Given the description of an element on the screen output the (x, y) to click on. 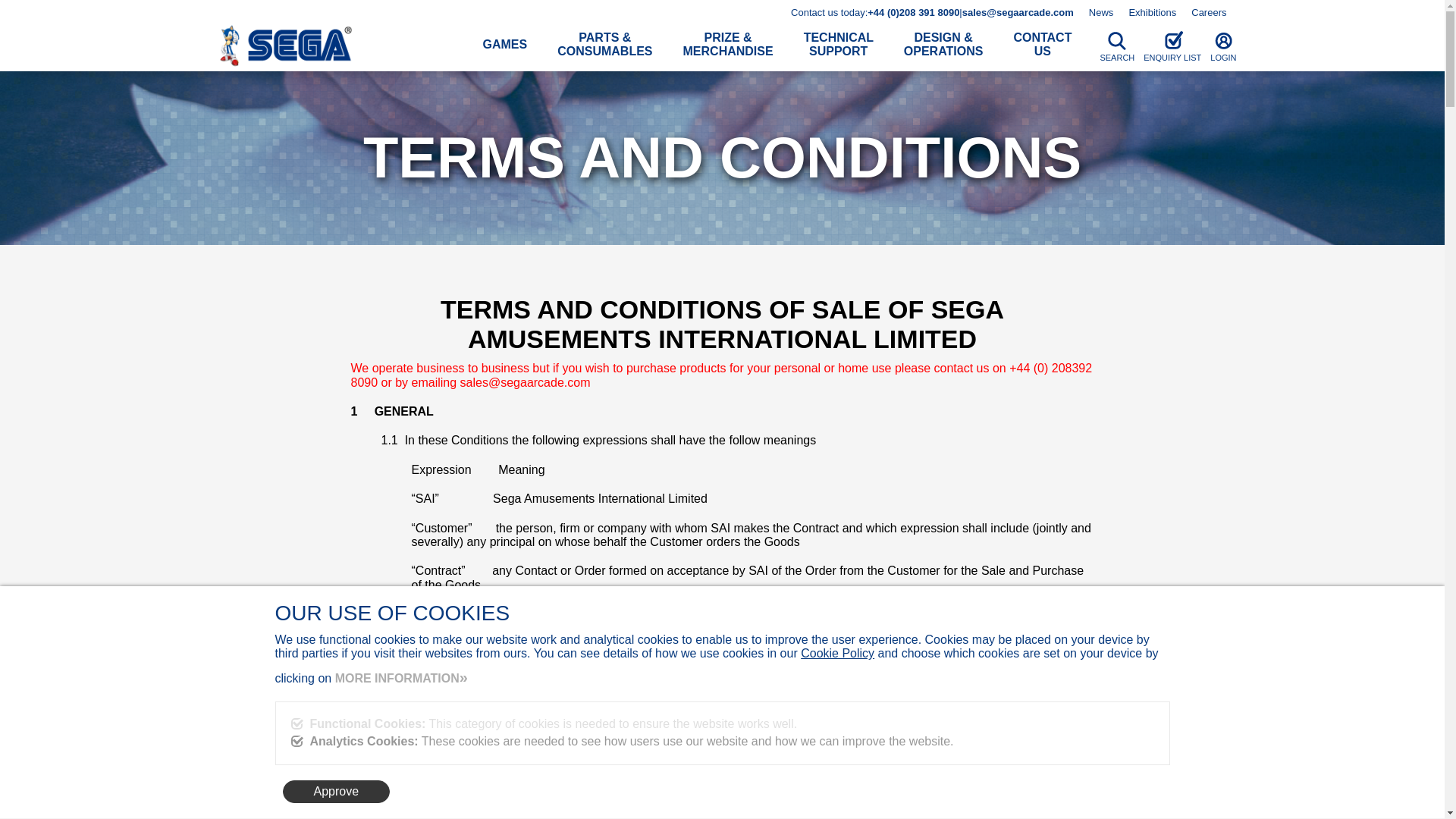
Careers (1208, 12)
TECHNICAL SUPPORT (838, 44)
Approve (336, 791)
Cookie Policy (837, 653)
ENQUIRY LIST (1171, 45)
News (1101, 12)
MORE INFORMATION (400, 677)
CONTACT US (1042, 44)
GAMES (504, 44)
Exhibitions (1152, 12)
